Given the description of an element on the screen output the (x, y) to click on. 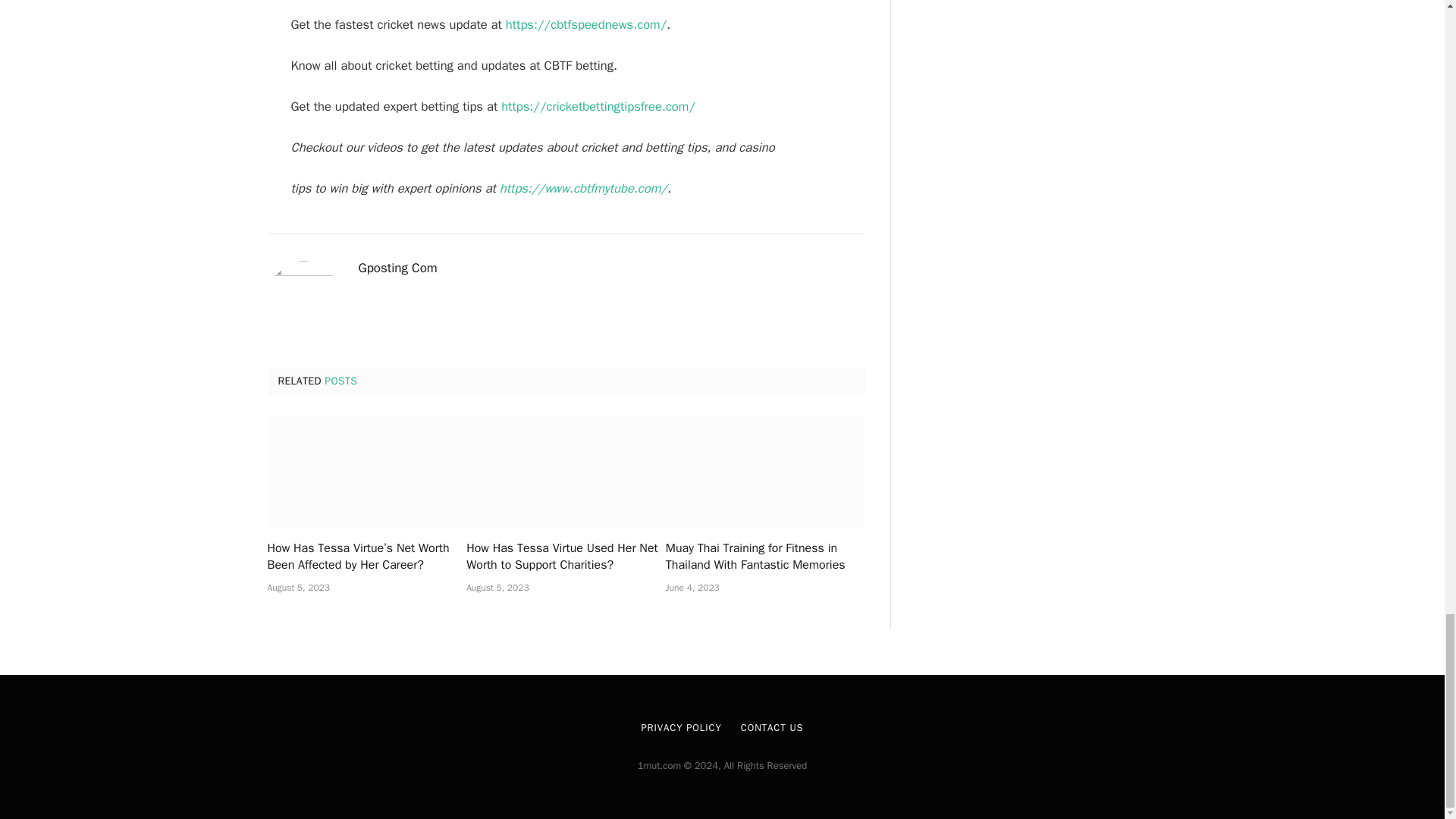
Posts by Gposting Com (397, 268)
Gposting Com (397, 268)
